Given the description of an element on the screen output the (x, y) to click on. 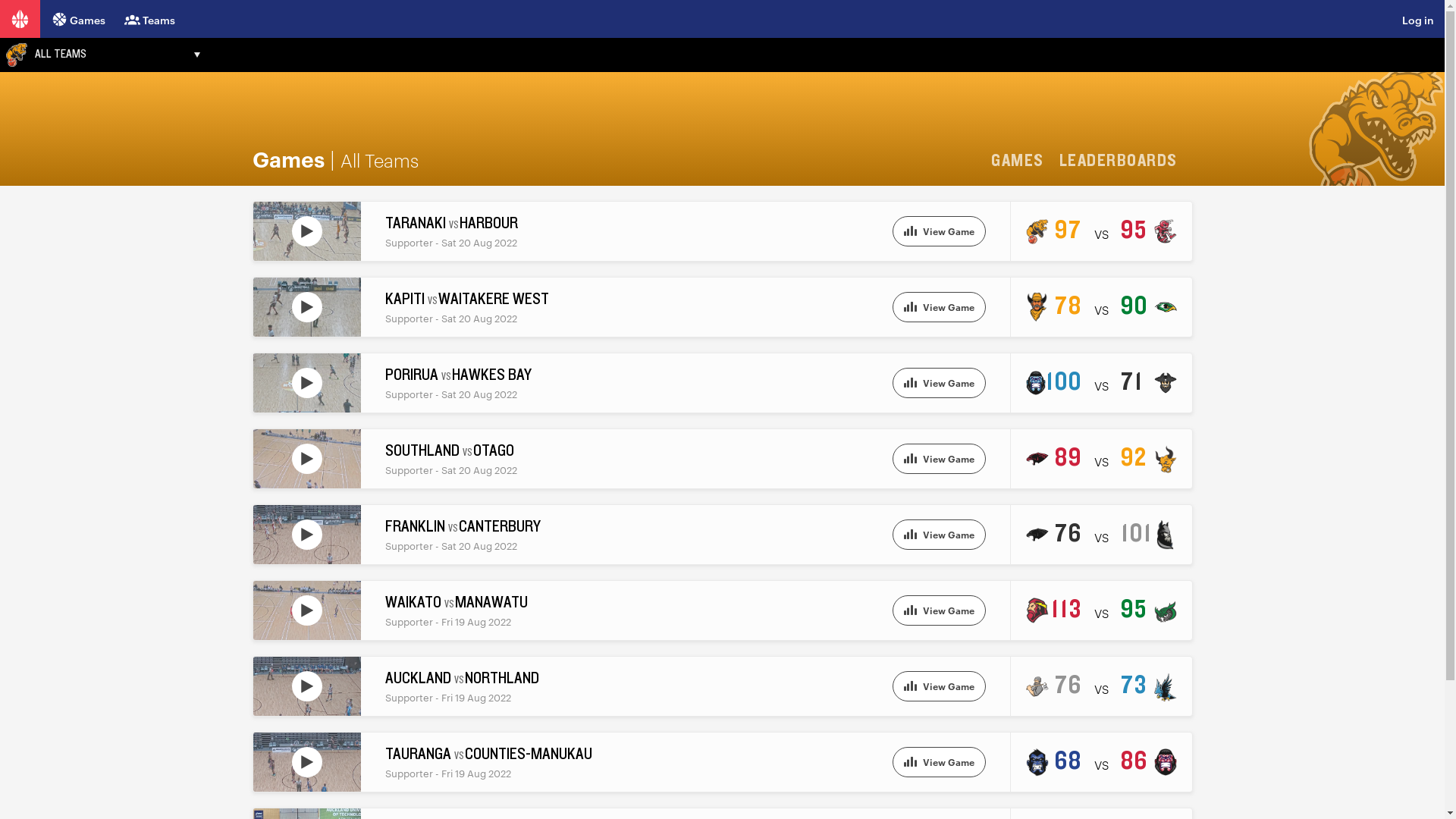
Teams Element type: text (149, 18)
Log in Element type: text (1429, 19)
LEADERBOARDS Element type: text (1123, 160)
Games Element type: text (78, 18)
GAMES Element type: text (1022, 160)
